Given the description of an element on the screen output the (x, y) to click on. 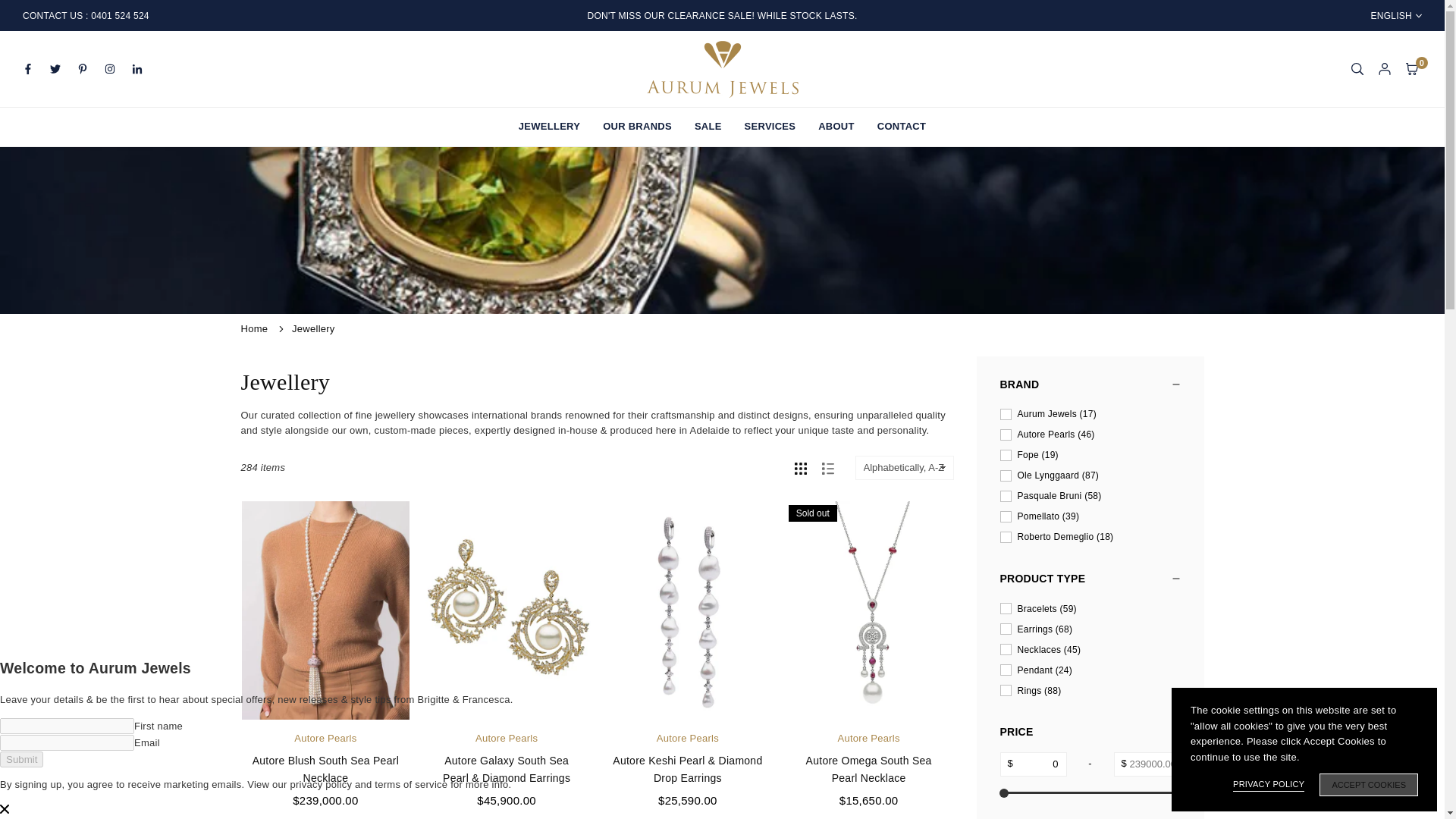
Aurum Jewels on Twitter (55, 68)
OUR BRANDS (636, 126)
Language (1396, 15)
Pinterest (82, 68)
0 (1031, 764)
Back to the home page (255, 328)
Linkedin (137, 68)
Instagram (109, 68)
ENGLISH (1396, 15)
JEWELLERY (548, 126)
